Given the description of an element on the screen output the (x, y) to click on. 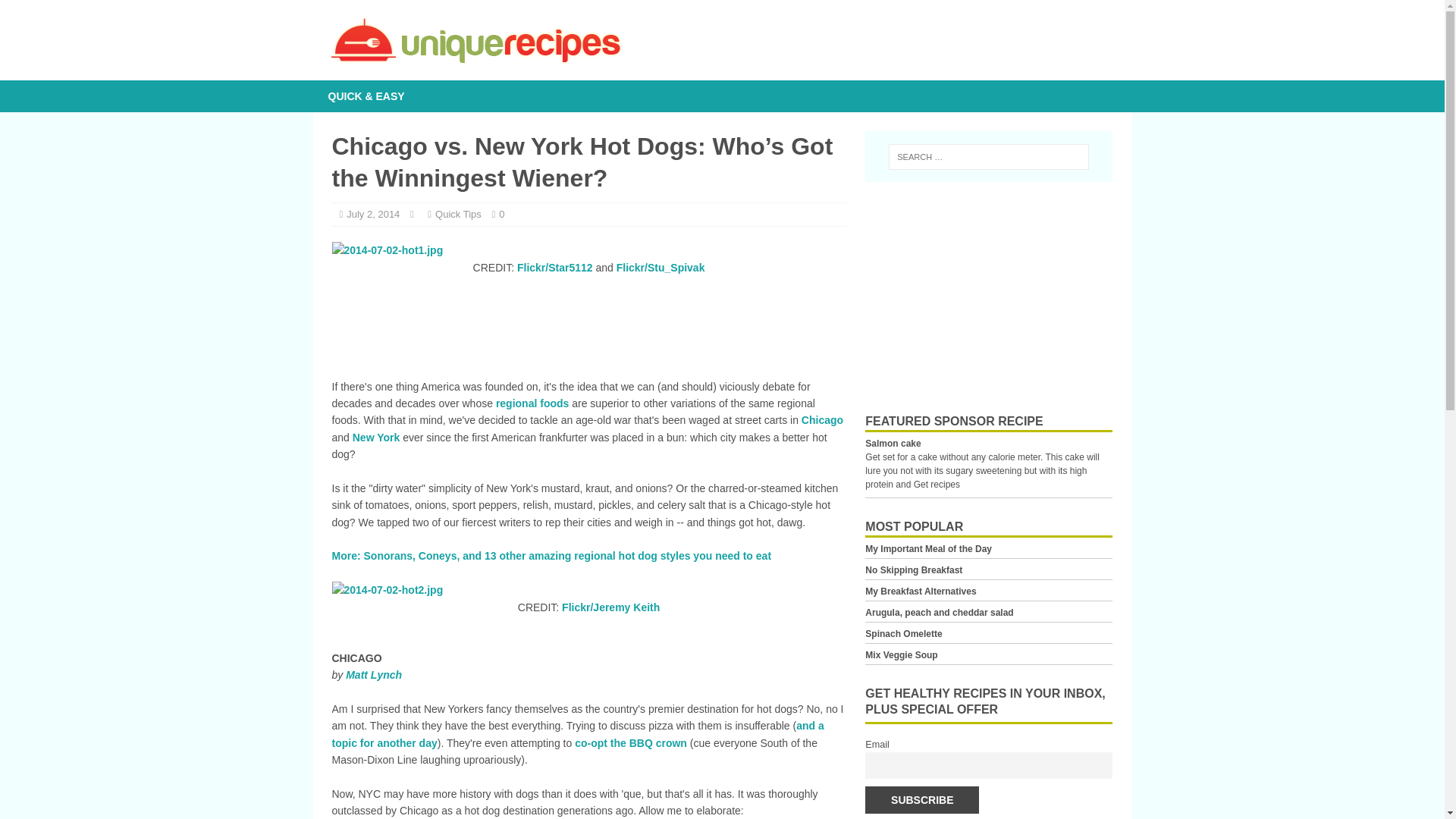
0 (501, 214)
No Skipping Breakfast (913, 570)
Subscribe (921, 800)
New York (376, 437)
Matt Lynch (373, 674)
Permanent link to Mix Veggie Soup (900, 655)
My Breakfast Alternatives (919, 591)
Permanent link to Salmon cake (892, 443)
Quick Tips (458, 214)
0 (501, 214)
Permanent link to No Skipping Breakfast (913, 570)
My Important Meal of the Day (927, 548)
and a topic for another day (577, 733)
co-opt the BBQ crown (631, 743)
